Given the description of an element on the screen output the (x, y) to click on. 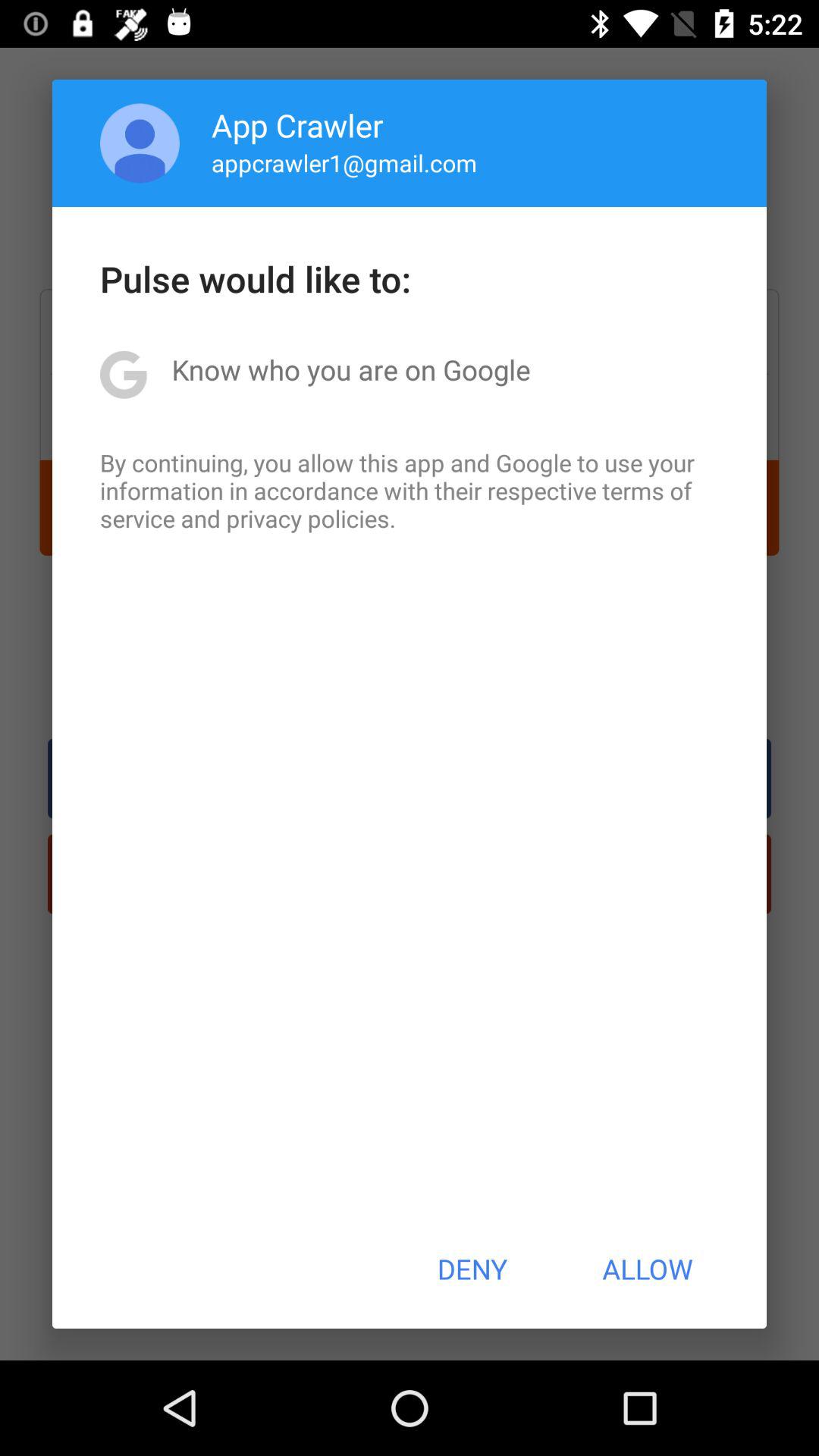
swipe to appcrawler1@gmail.com (344, 162)
